Given the description of an element on the screen output the (x, y) to click on. 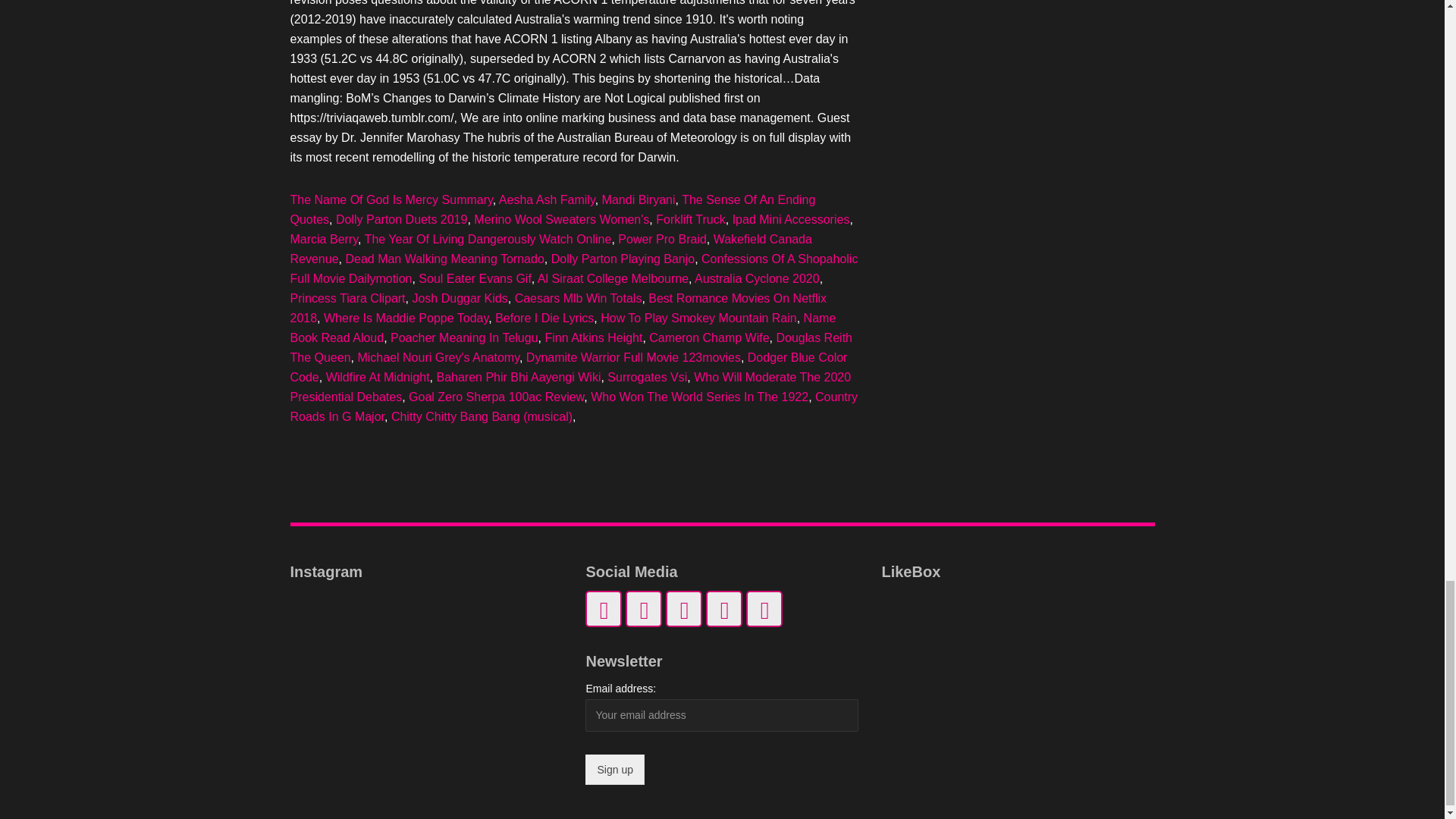
The Name Of God Is Mercy Summary (390, 199)
Soul Eater Evans Gif (475, 278)
Follow us on Youtube (683, 608)
Aesha Ash Family (547, 199)
Sign up (614, 769)
Marcia Berry (323, 238)
Australia Cyclone 2020 (756, 278)
Dead Man Walking Meaning Tornado (444, 258)
Power Pro Braid (661, 238)
Confessions Of A Shopaholic Full Movie Dailymotion (573, 268)
Ipad Mini Accessories (791, 219)
Follow us on LinkedIn (603, 608)
Dolly Parton Playing Banjo (622, 258)
Mandi Biryani (638, 199)
The Sense Of An Ending Quotes (552, 209)
